Given the description of an element on the screen output the (x, y) to click on. 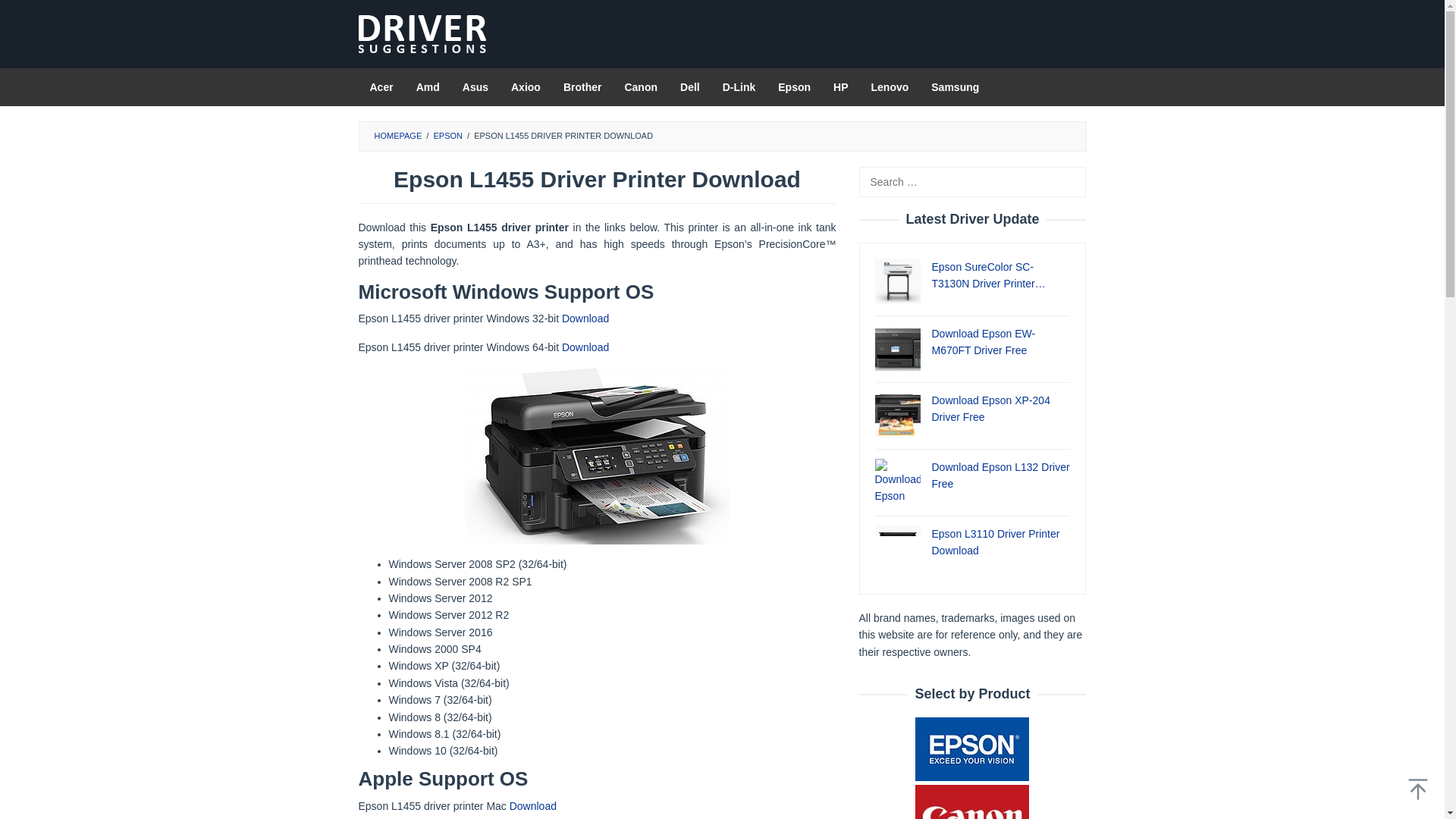
Driver Suggestions (421, 33)
Amd (427, 86)
Epson (794, 86)
Canon (640, 86)
Axioo (525, 86)
EPSON (447, 135)
Asus (475, 86)
Lenovo (890, 86)
Download (532, 806)
